Given the description of an element on the screen output the (x, y) to click on. 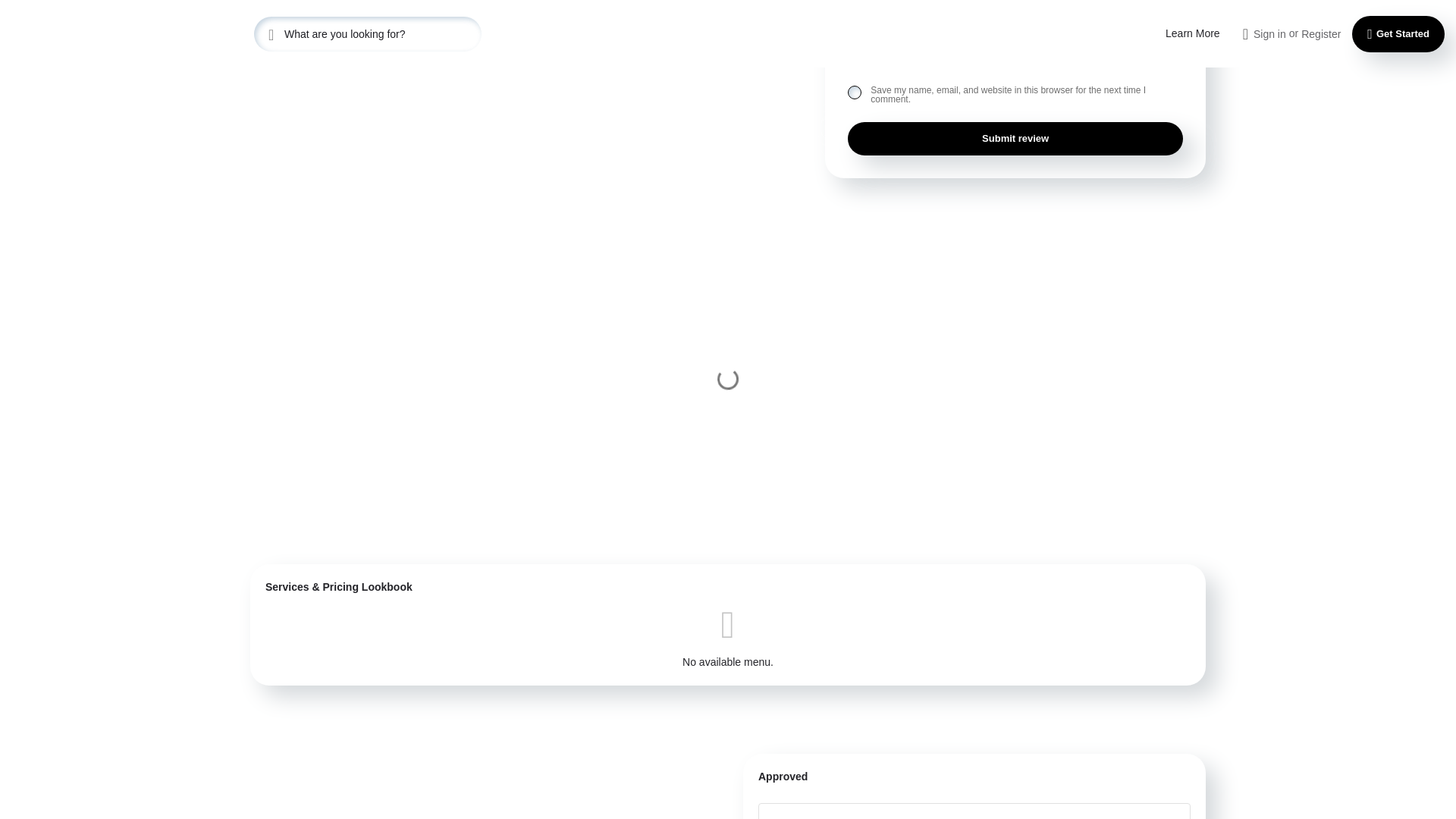
Submit review (1014, 138)
